Given the description of an element on the screen output the (x, y) to click on. 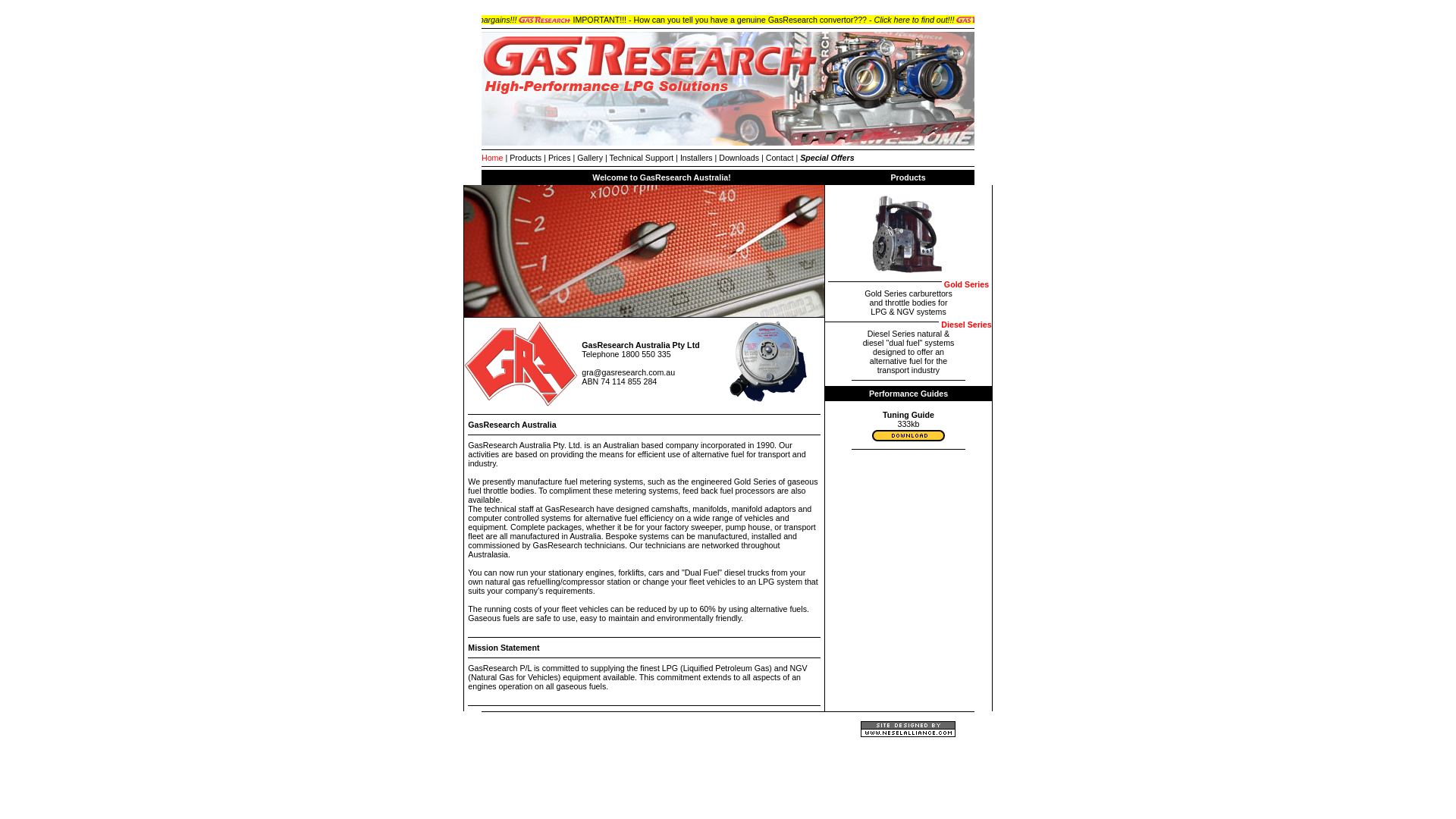
Products Element type: text (525, 157)
Prices Element type: text (559, 157)
Gallery Element type: text (589, 157)
gra@gasresearch.com.au Element type: text (627, 371)
Contact Element type: text (779, 157)
Installers Element type: text (696, 157)
Technical Support Element type: text (640, 157)
Special Offers Element type: text (826, 157)
Tuning Guide
333kb Element type: text (908, 427)
Downloads Element type: text (738, 157)
